Given the description of an element on the screen output the (x, y) to click on. 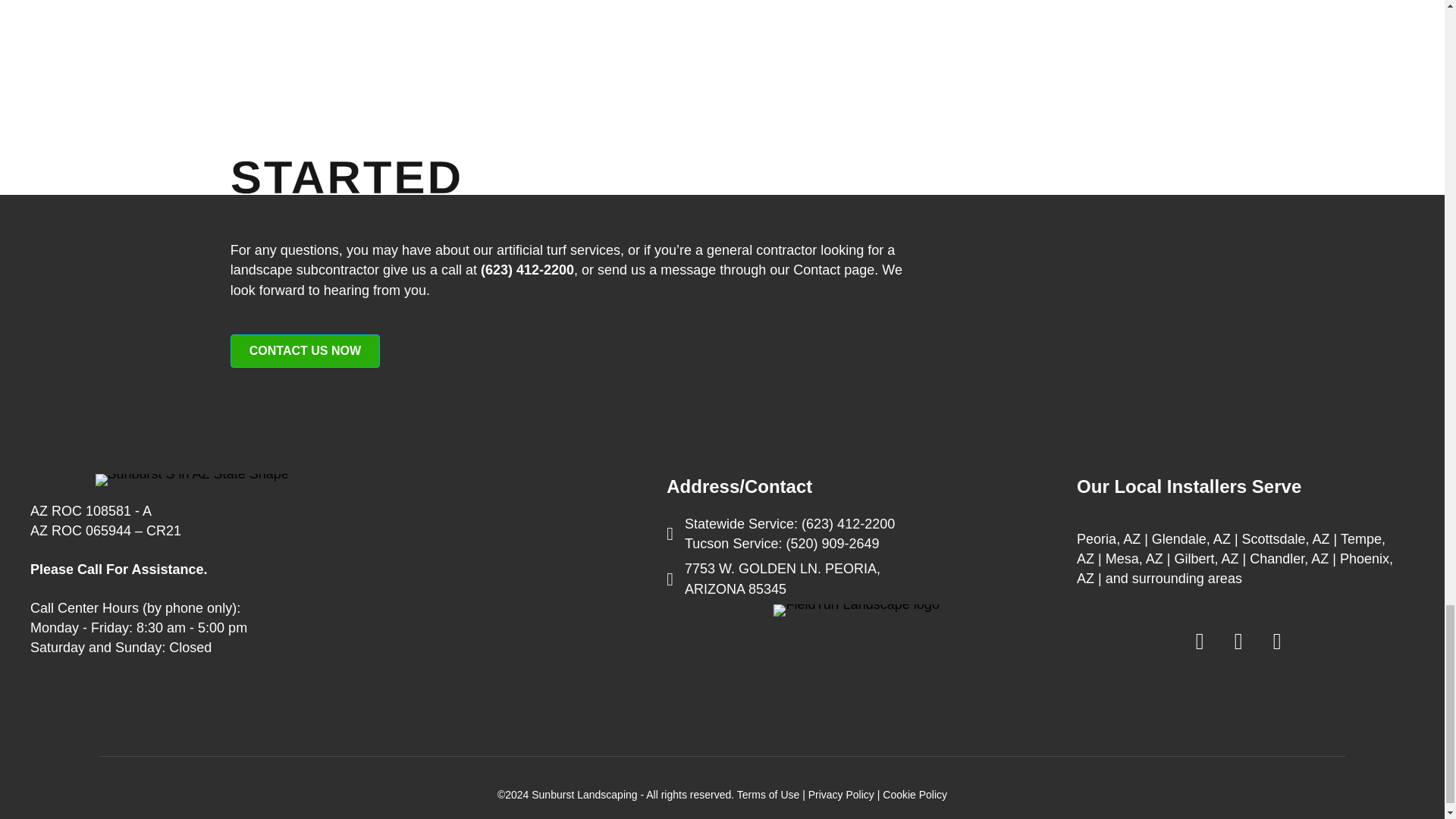
Sunburst S in AZ State Shape (192, 480)
FieldTurf Landscape logo (856, 610)
